Given the description of an element on the screen output the (x, y) to click on. 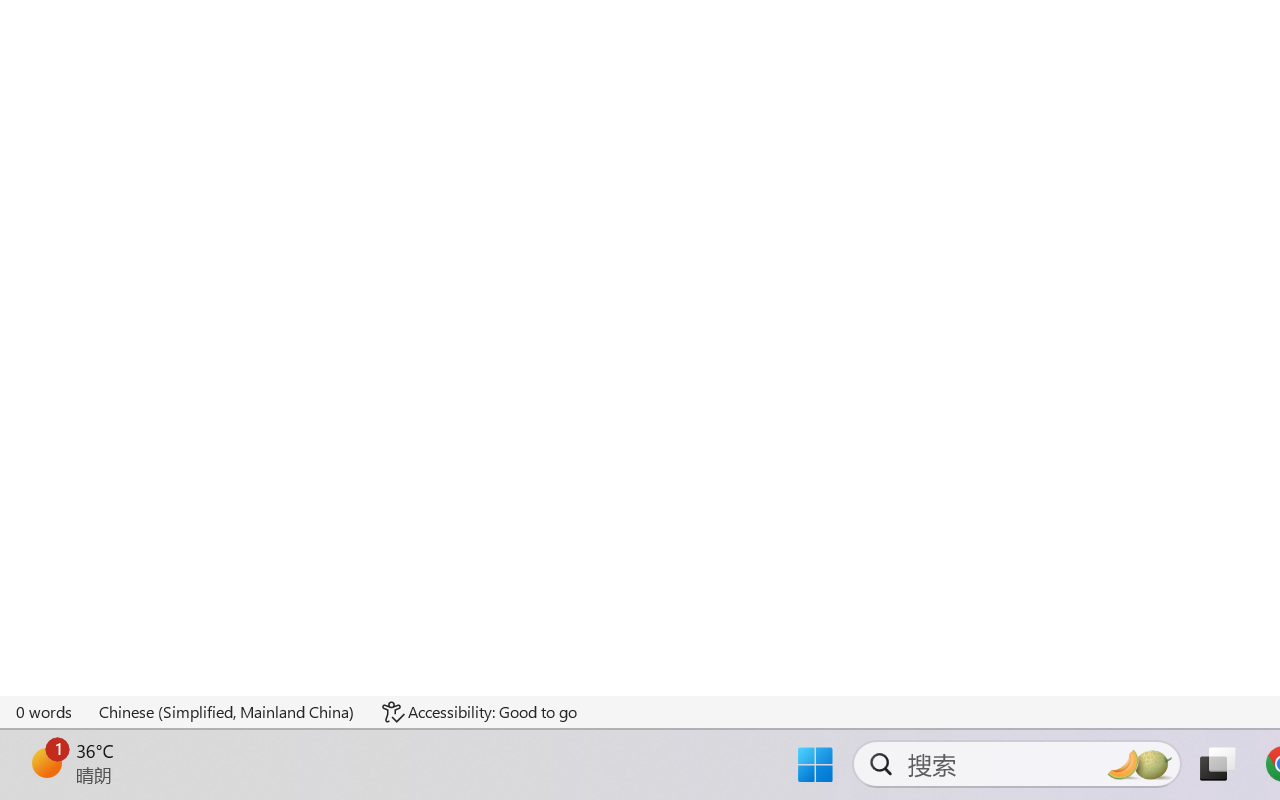
Language Chinese (Simplified, Mainland China) (227, 712)
